Given the description of an element on the screen output the (x, y) to click on. 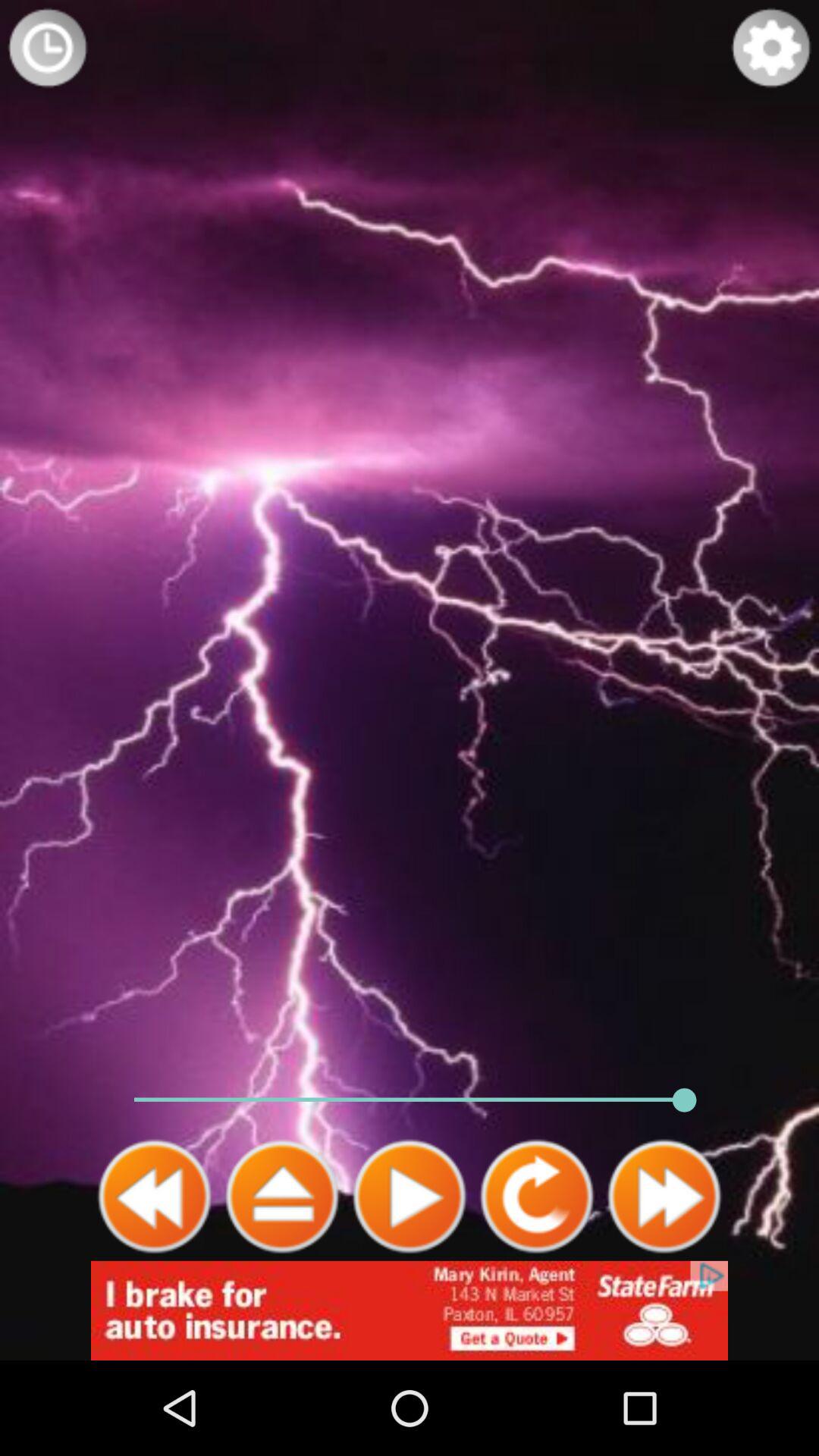
settings (771, 47)
